Given the description of an element on the screen output the (x, y) to click on. 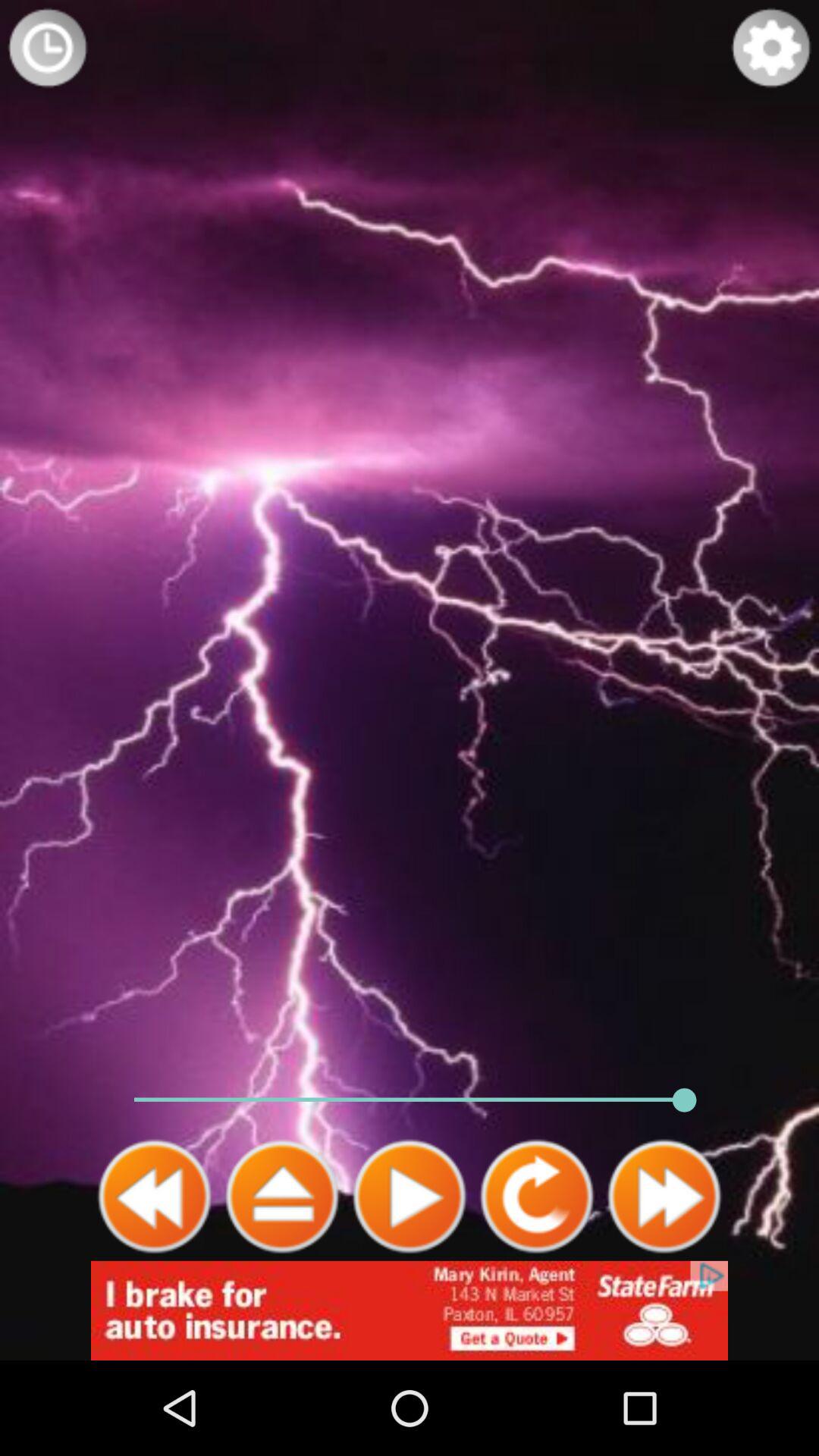
settings (771, 47)
